Given the description of an element on the screen output the (x, y) to click on. 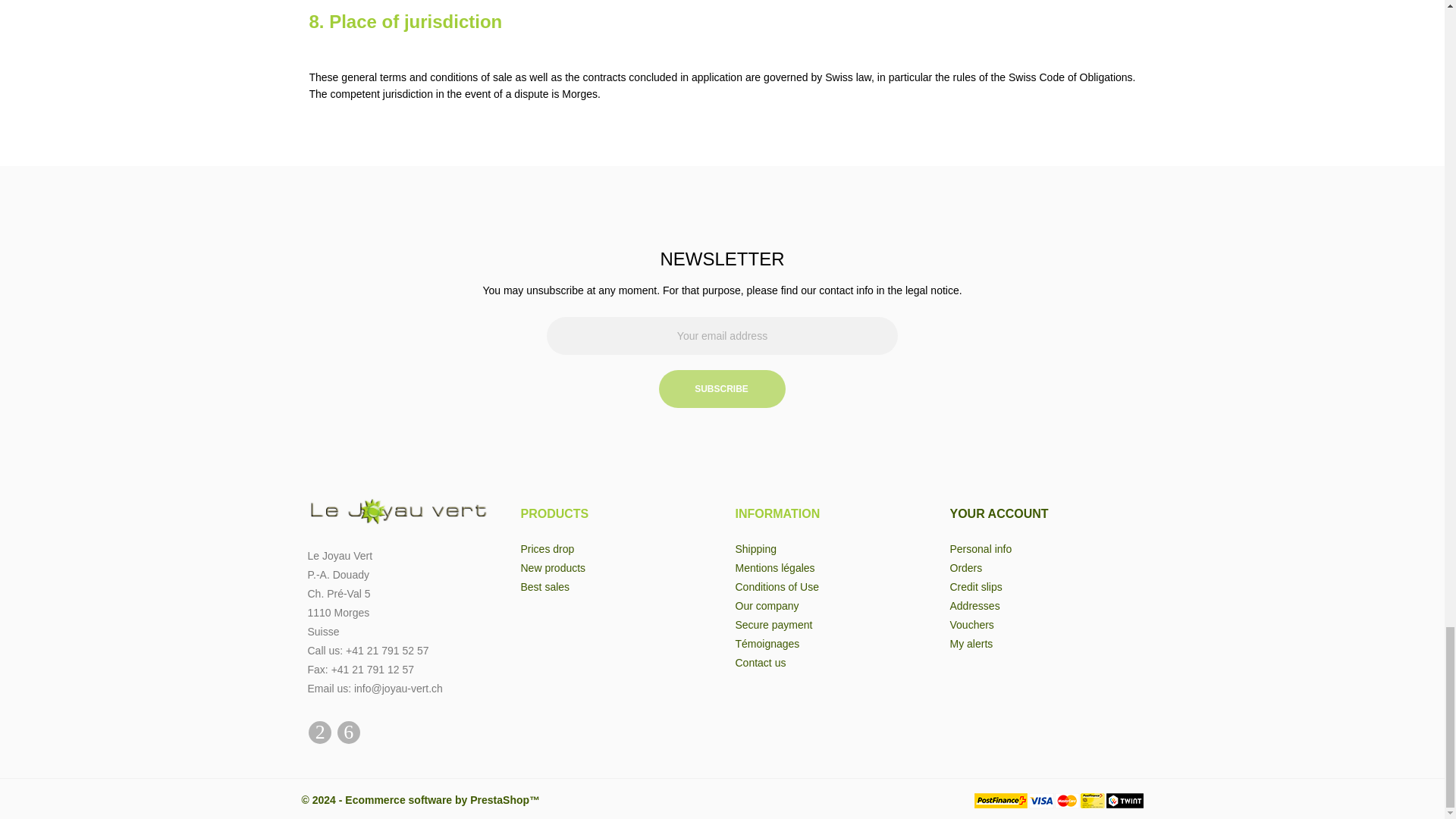
Our special products (546, 548)
Credit slips (975, 586)
Our best sales (544, 586)
Addresses (973, 605)
Best sales (544, 586)
Orders (965, 567)
Our new products (552, 567)
Shipping (756, 548)
New products (552, 567)
SUBSCRIBE (722, 388)
Personal info (980, 548)
Prices drop (546, 548)
Use our form to contact us (760, 662)
Conditions of Use (777, 586)
